Given the description of an element on the screen output the (x, y) to click on. 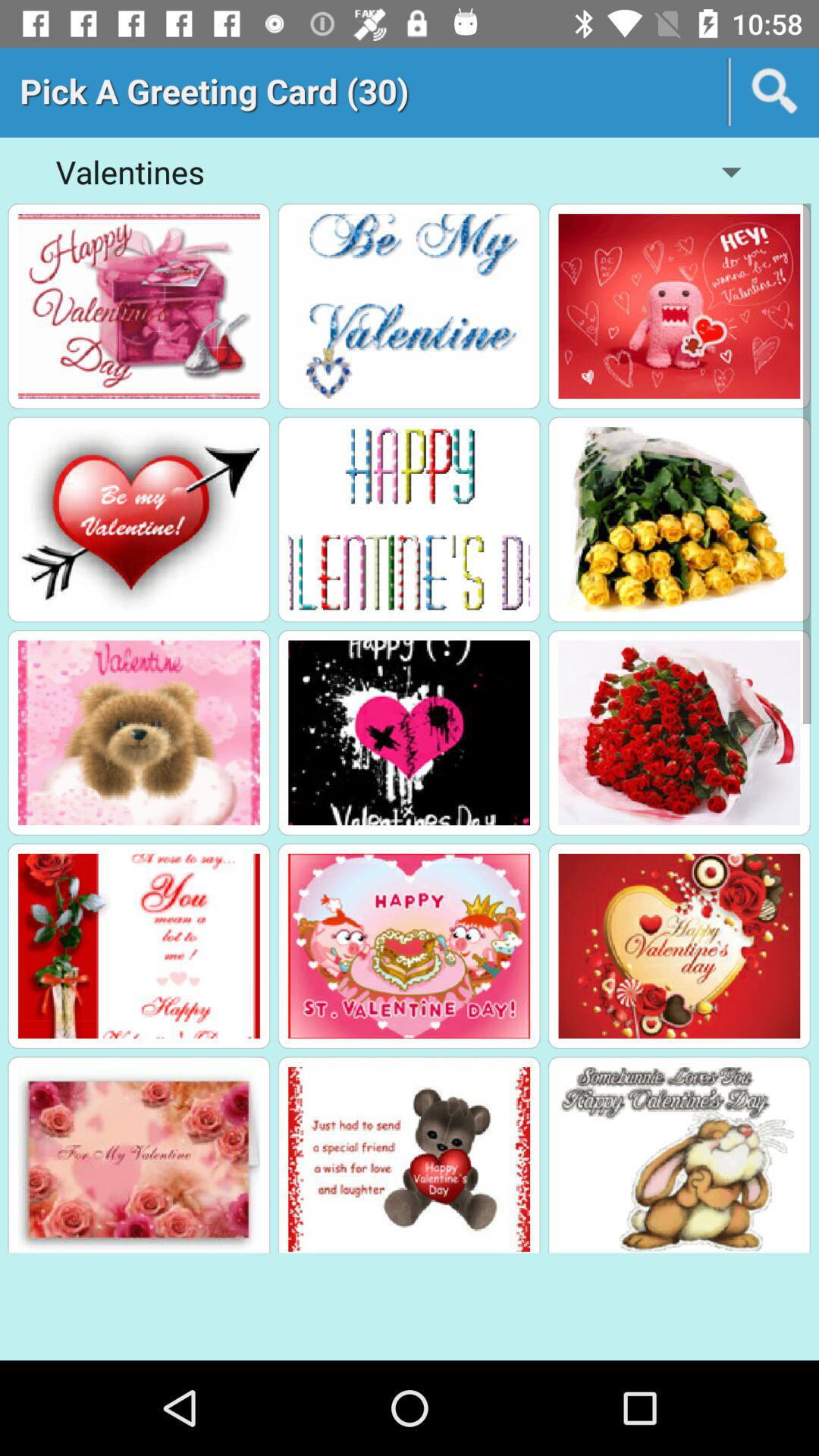
greeting click box (409, 519)
